Given the description of an element on the screen output the (x, y) to click on. 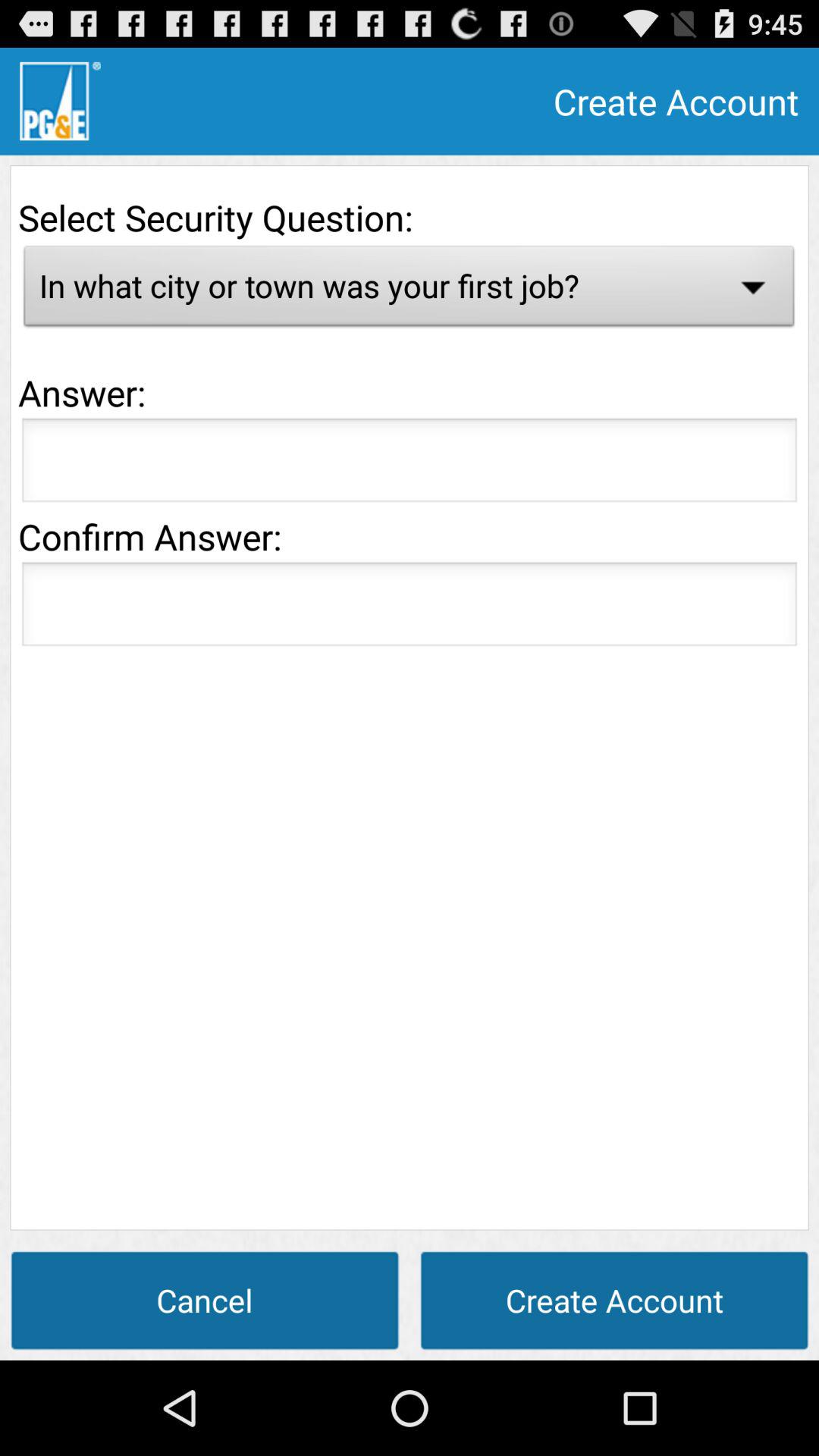
retype the answer (409, 608)
